Given the description of an element on the screen output the (x, y) to click on. 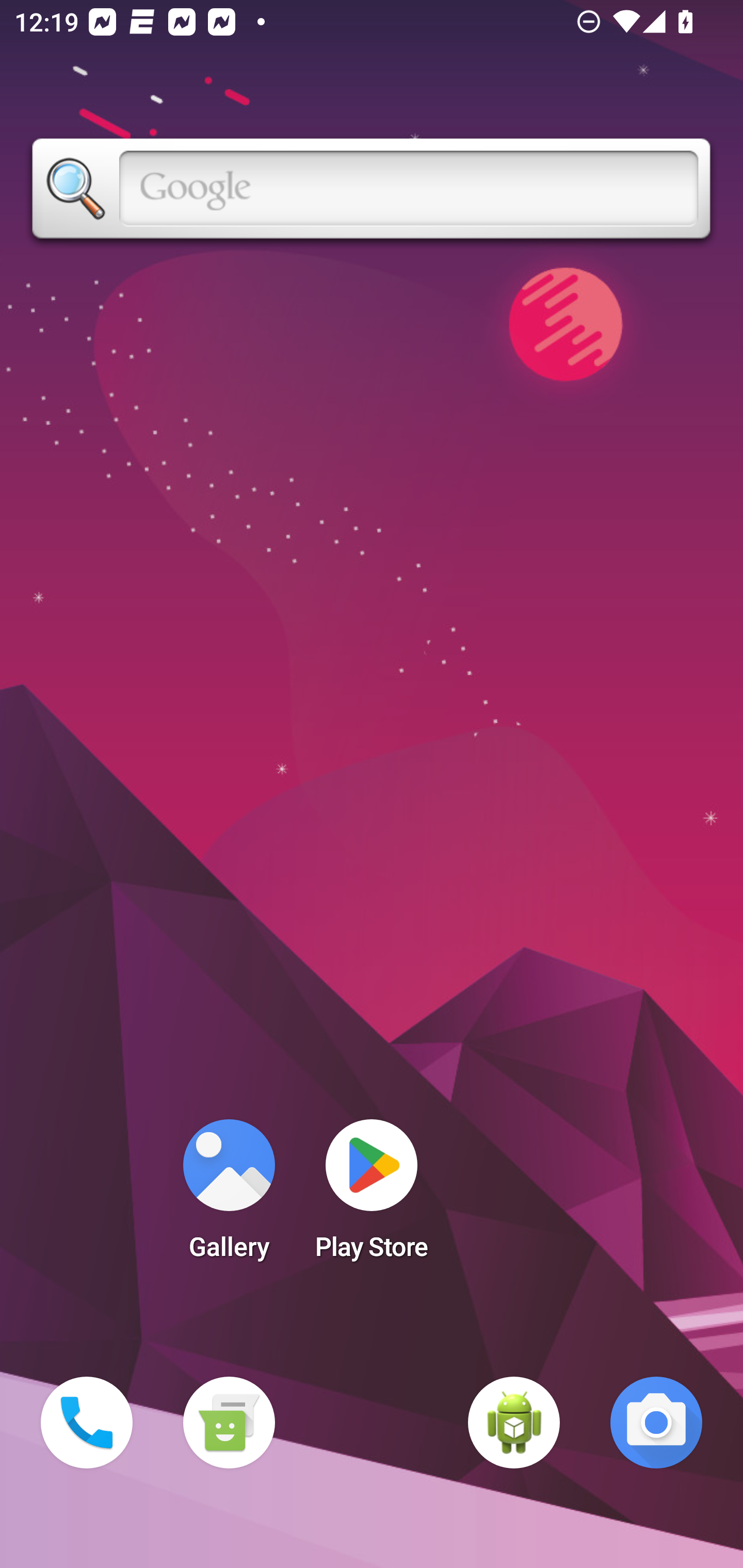
Gallery (228, 1195)
Play Store (371, 1195)
Phone (86, 1422)
Messaging (228, 1422)
WebView Browser Tester (513, 1422)
Camera (656, 1422)
